Given the description of an element on the screen output the (x, y) to click on. 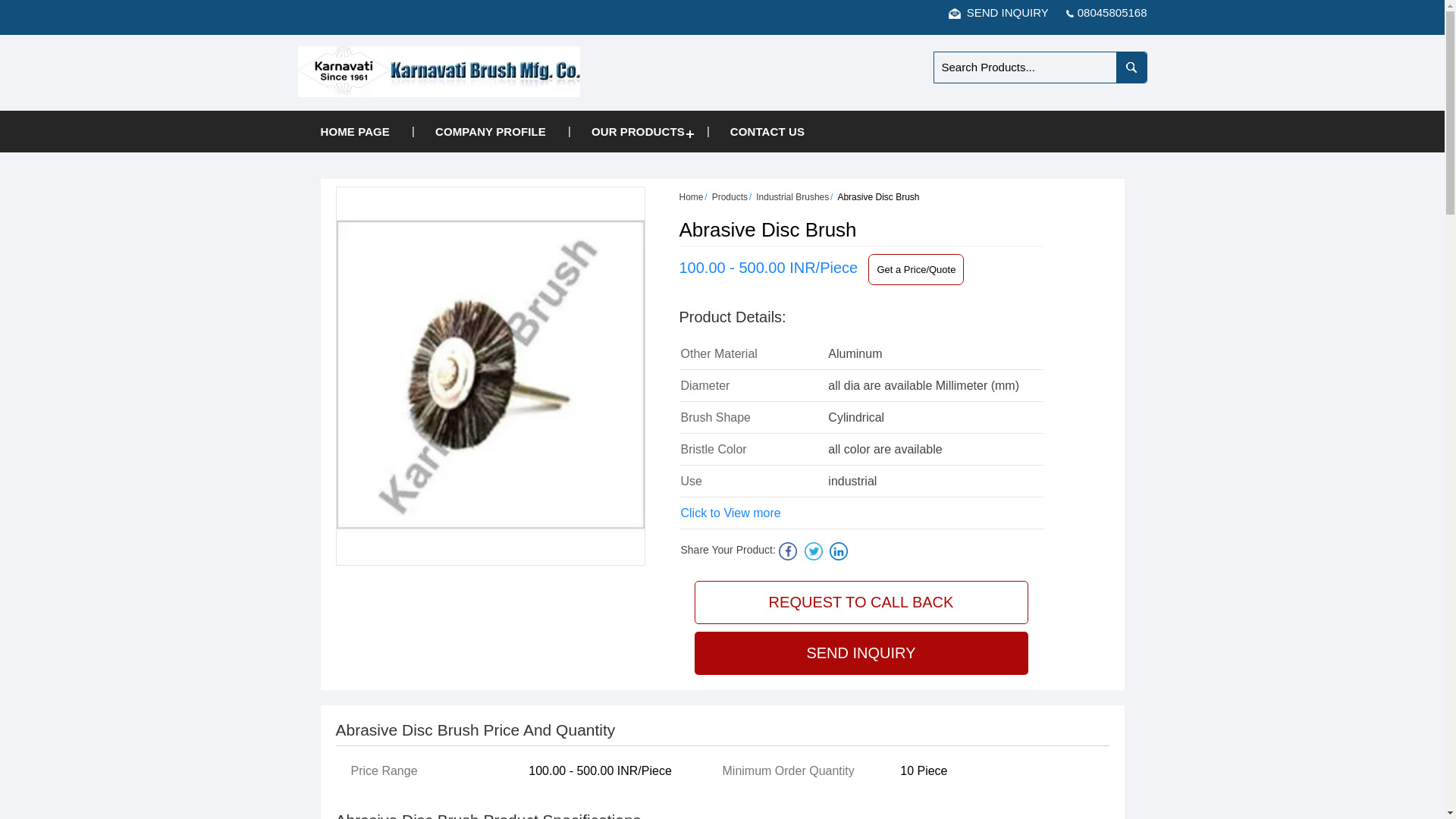
Search (1131, 67)
COMPANY PROFILE (490, 131)
SEND INQUIRY (998, 11)
Karnavati Brush Manufacturing Co. (438, 71)
Send Inquiry (954, 13)
OUR PRODUCTS (638, 131)
Search Products... (1025, 67)
submit (1131, 67)
HOME PAGE (354, 131)
